Given the description of an element on the screen output the (x, y) to click on. 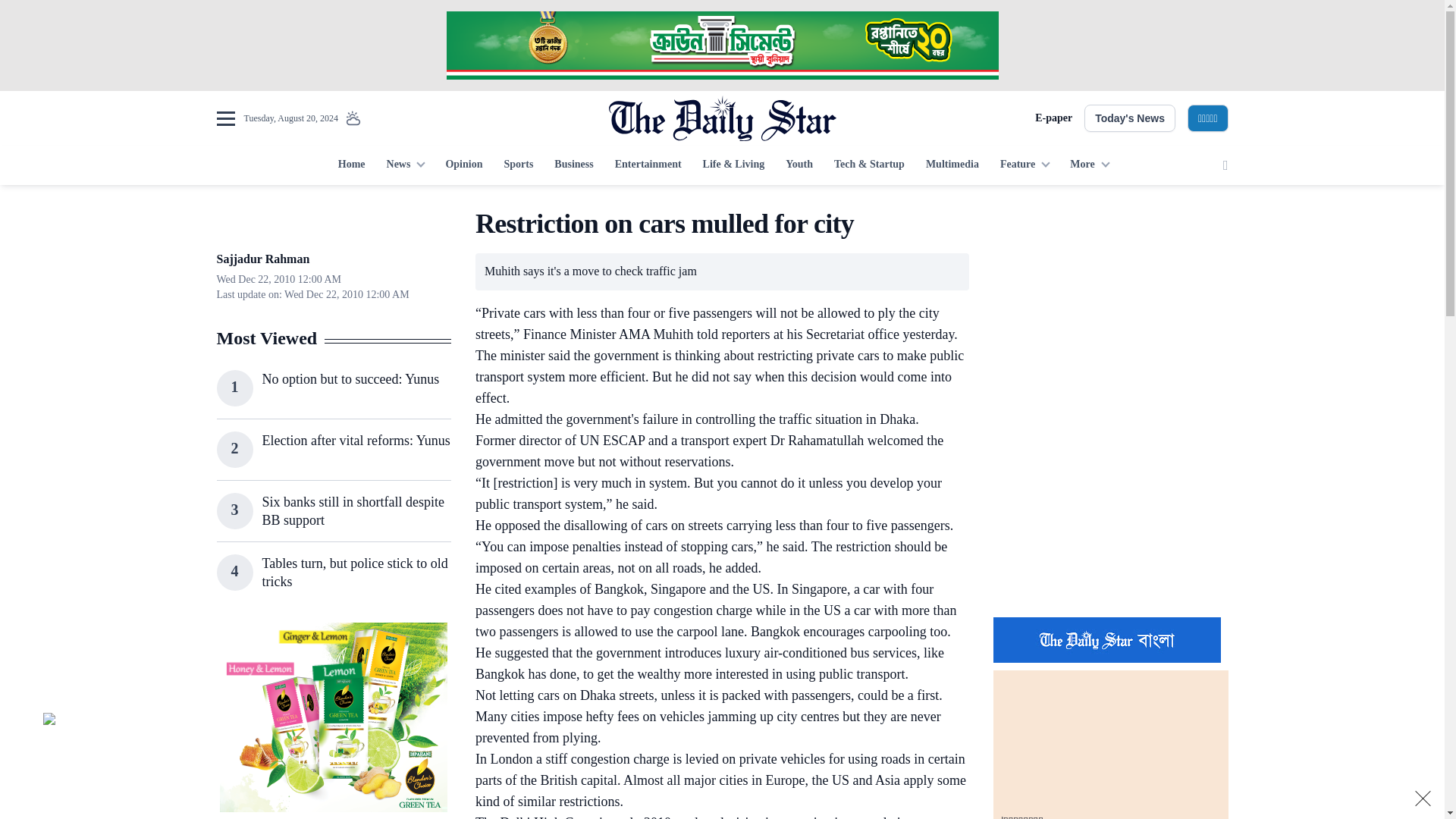
Sports (518, 165)
Opinion (463, 165)
3rd party ad content (332, 717)
Feature (1024, 165)
3rd party ad content (1110, 506)
Entertainment (647, 165)
Business (573, 165)
3rd party ad content (1110, 302)
Today's News (1129, 117)
